Given the description of an element on the screen output the (x, y) to click on. 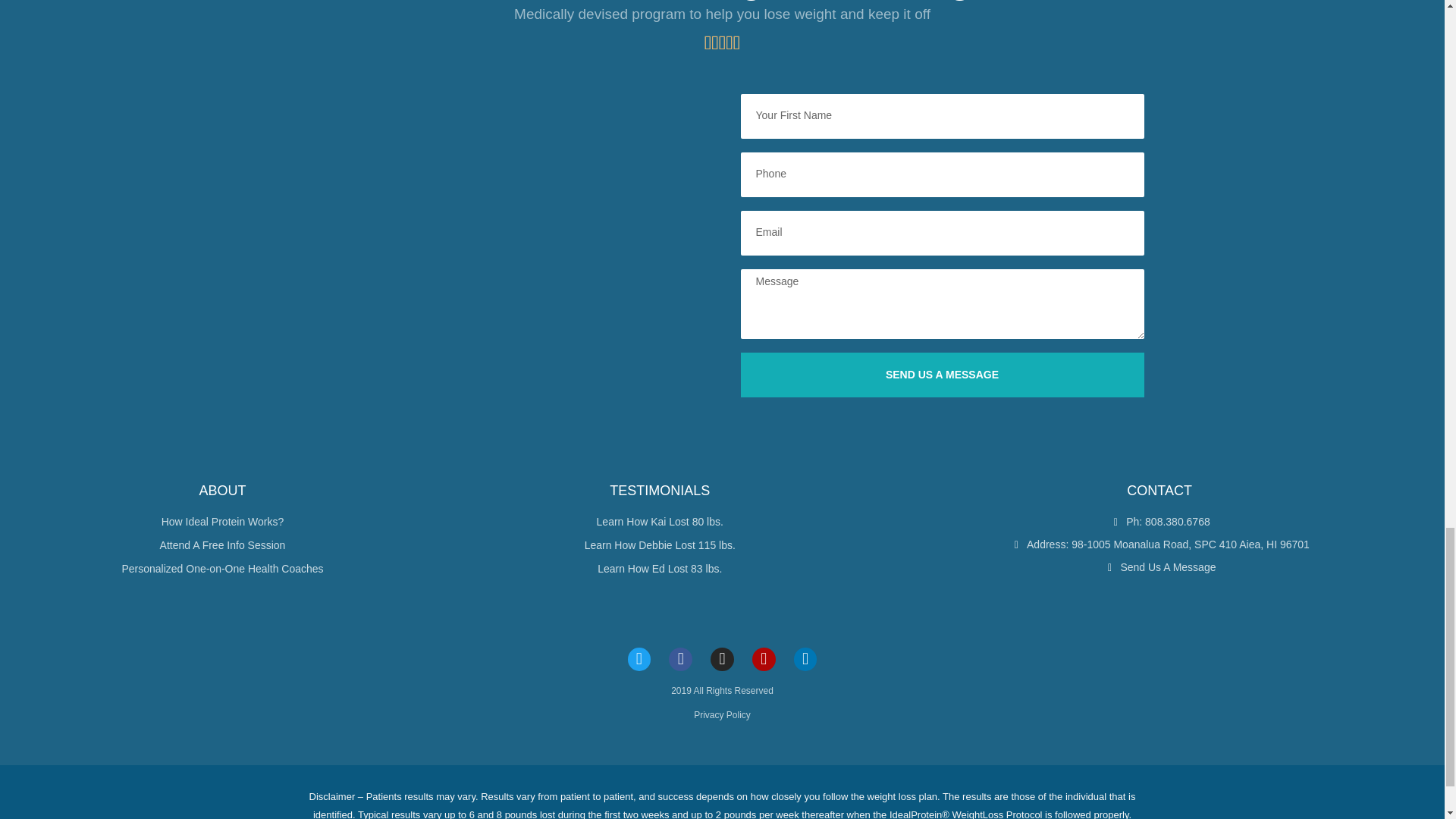
Privacy Policy (722, 715)
SEND US A MESSAGE (940, 374)
How Ideal Protein Works? (222, 522)
Personalized One-on-One Health Coaches (222, 569)
Learn How Kai Lost 80 lbs. (660, 522)
Learn How Ed Lost 83 lbs. (660, 569)
Learn How Debbie Lost 115 lbs. (660, 546)
98-1005 Moanalua Road, SPC 410  Aiea, HI 96701 (501, 230)
Attend A Free Info Session (222, 546)
